Given the description of an element on the screen output the (x, y) to click on. 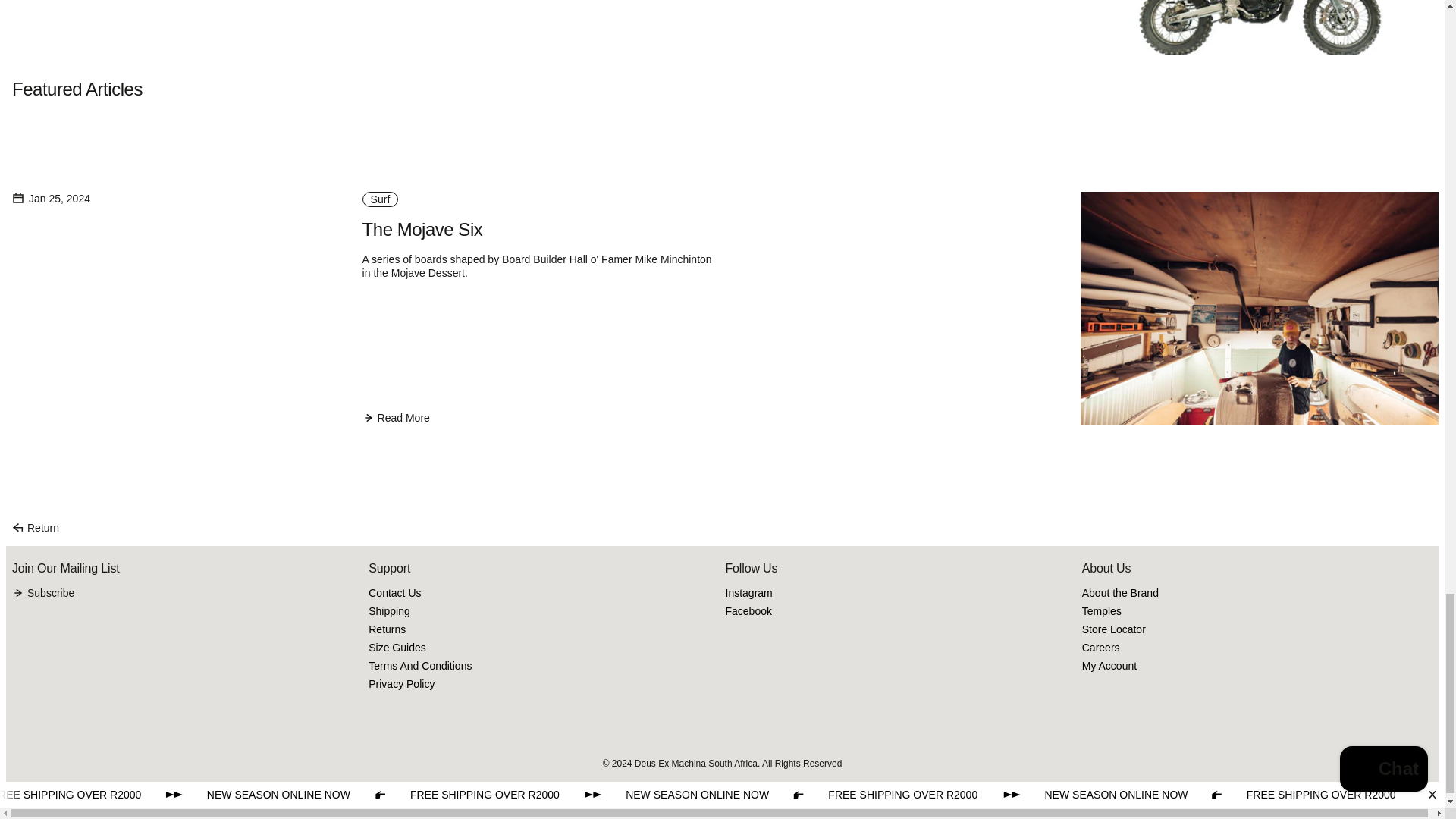
The Mojave Six (422, 229)
Deus Ex Machina South Africa on Instagram (748, 592)
Deus Ex Machina South Africa on Facebook (748, 610)
